Given the description of an element on the screen output the (x, y) to click on. 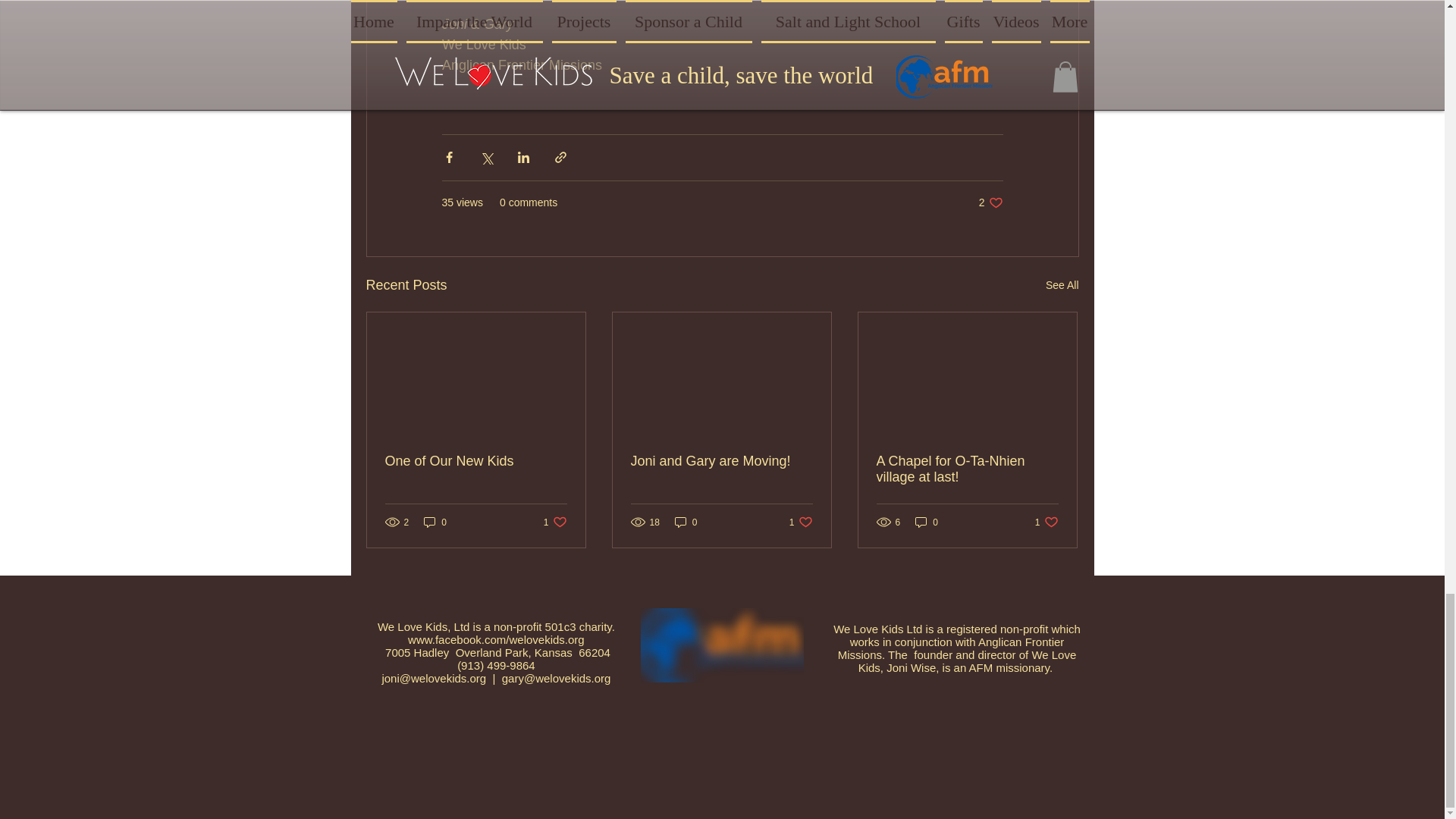
0 (435, 522)
Facebook Like (1027, 734)
0 (1046, 522)
A Chapel for O-Ta-Nhien village at last! (926, 522)
See All (967, 469)
Joni and Gary are Moving! (1061, 285)
0 (721, 461)
One of Our New Kids (800, 522)
